Given the description of an element on the screen output the (x, y) to click on. 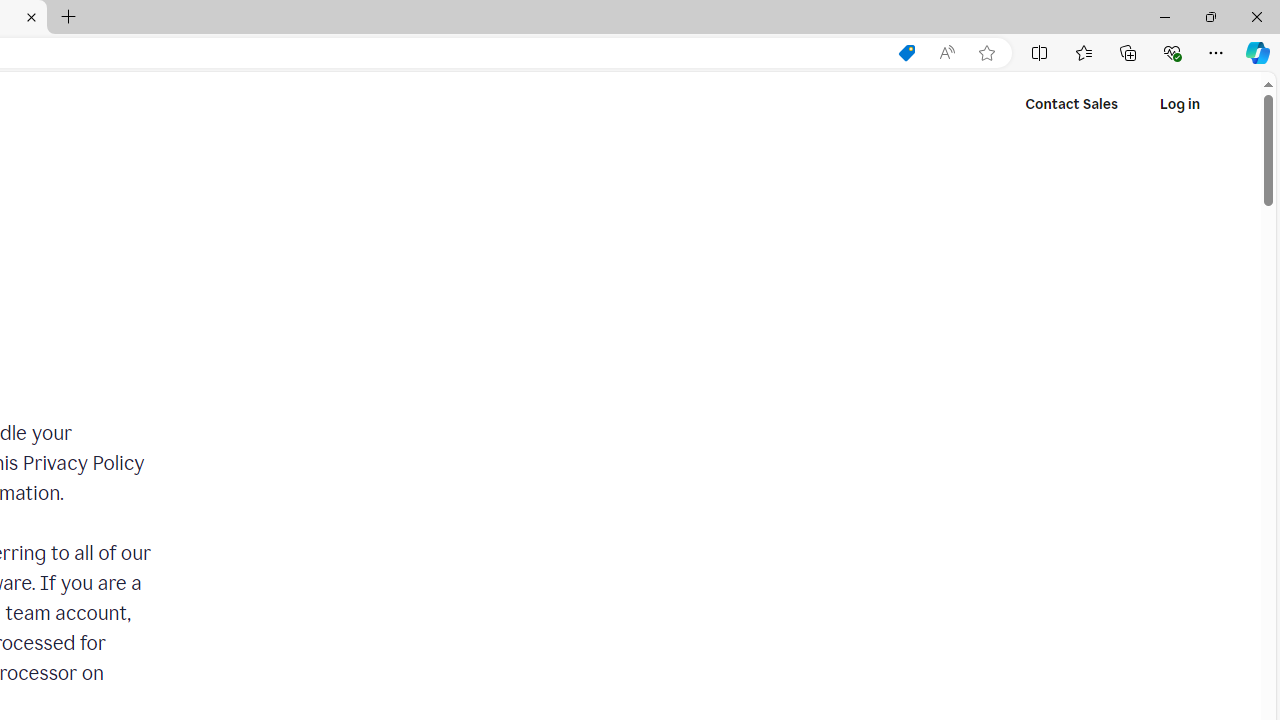
Contact Sales (1071, 103)
Log in (1179, 103)
